Given the description of an element on the screen output the (x, y) to click on. 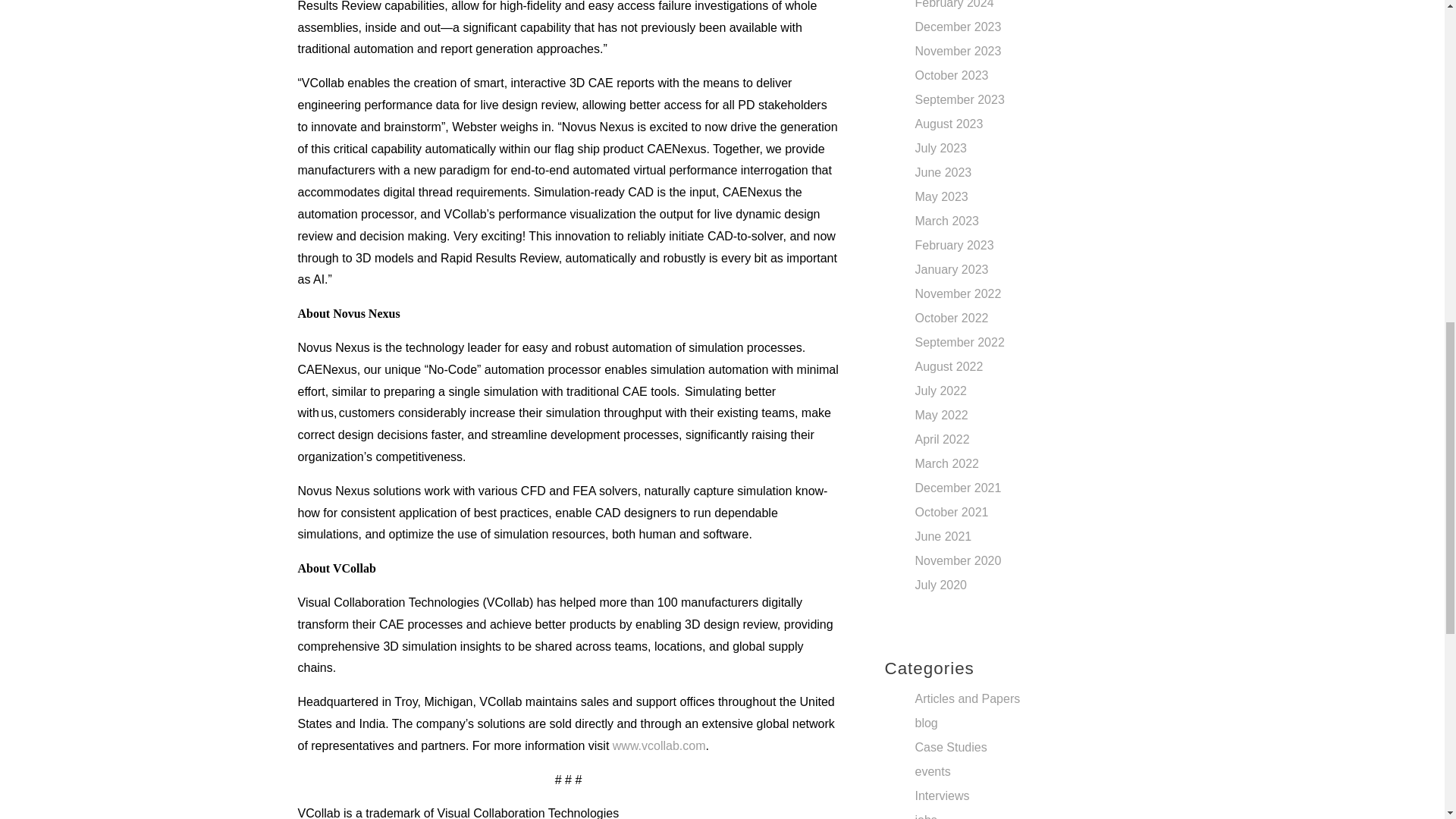
August 2023 (948, 123)
October 2023 (951, 74)
February 2024 (953, 4)
www.vcollab.com (659, 745)
November 2023 (957, 51)
December 2023 (957, 26)
September 2023 (959, 99)
